Given the description of an element on the screen output the (x, y) to click on. 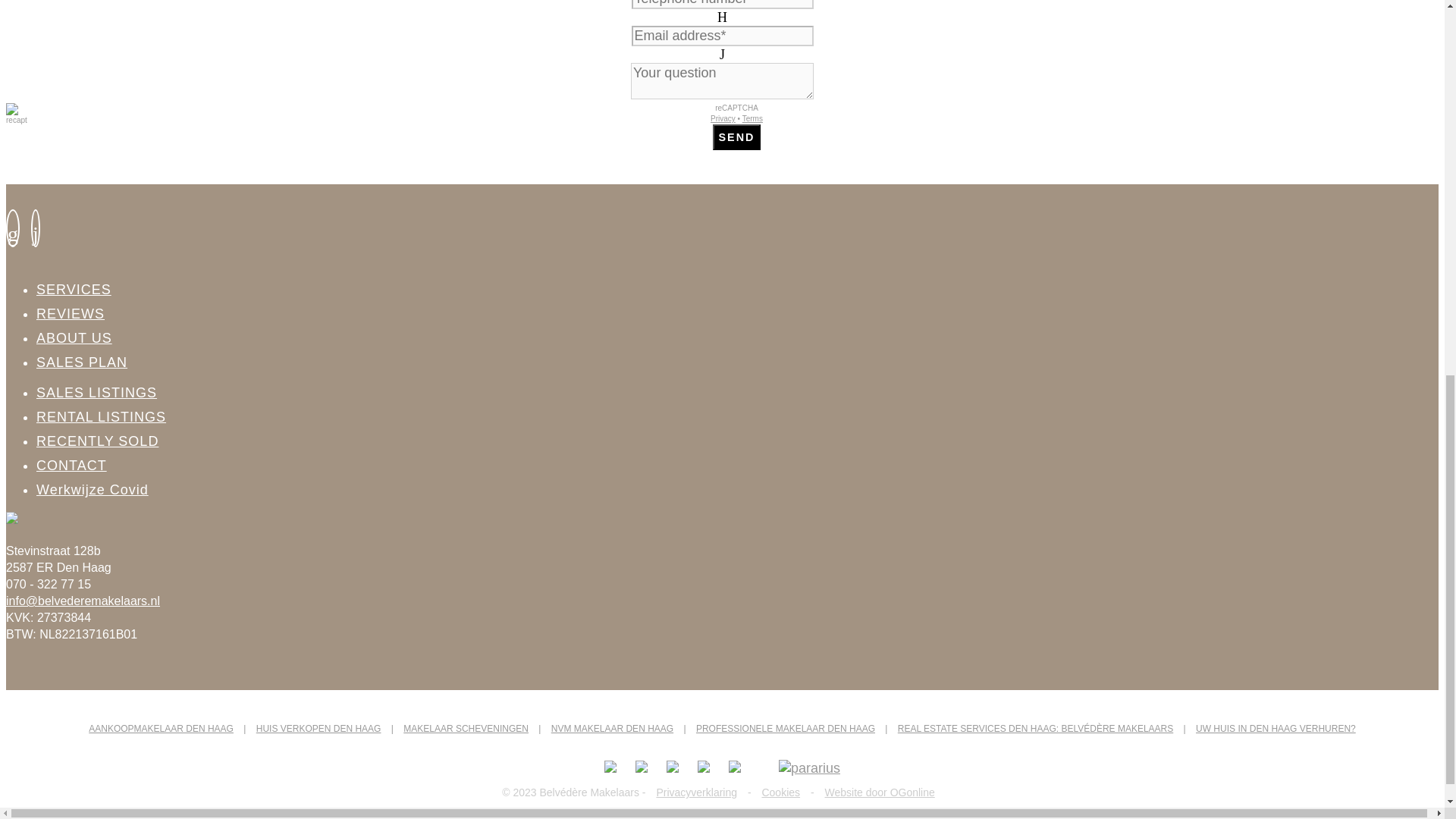
RENTAL LISTINGS (100, 417)
SALES LISTINGS (96, 392)
RECENTLY SOLD (97, 441)
SALES PLAN (82, 362)
SERVICES (74, 289)
ABOUT US (74, 337)
NVM MAKELAAR DEN HAAG (611, 728)
AANKOOPMAKELAAR DEN HAAG (160, 728)
Werkwijze Covid (92, 489)
Privacy (722, 118)
